Given the description of an element on the screen output the (x, y) to click on. 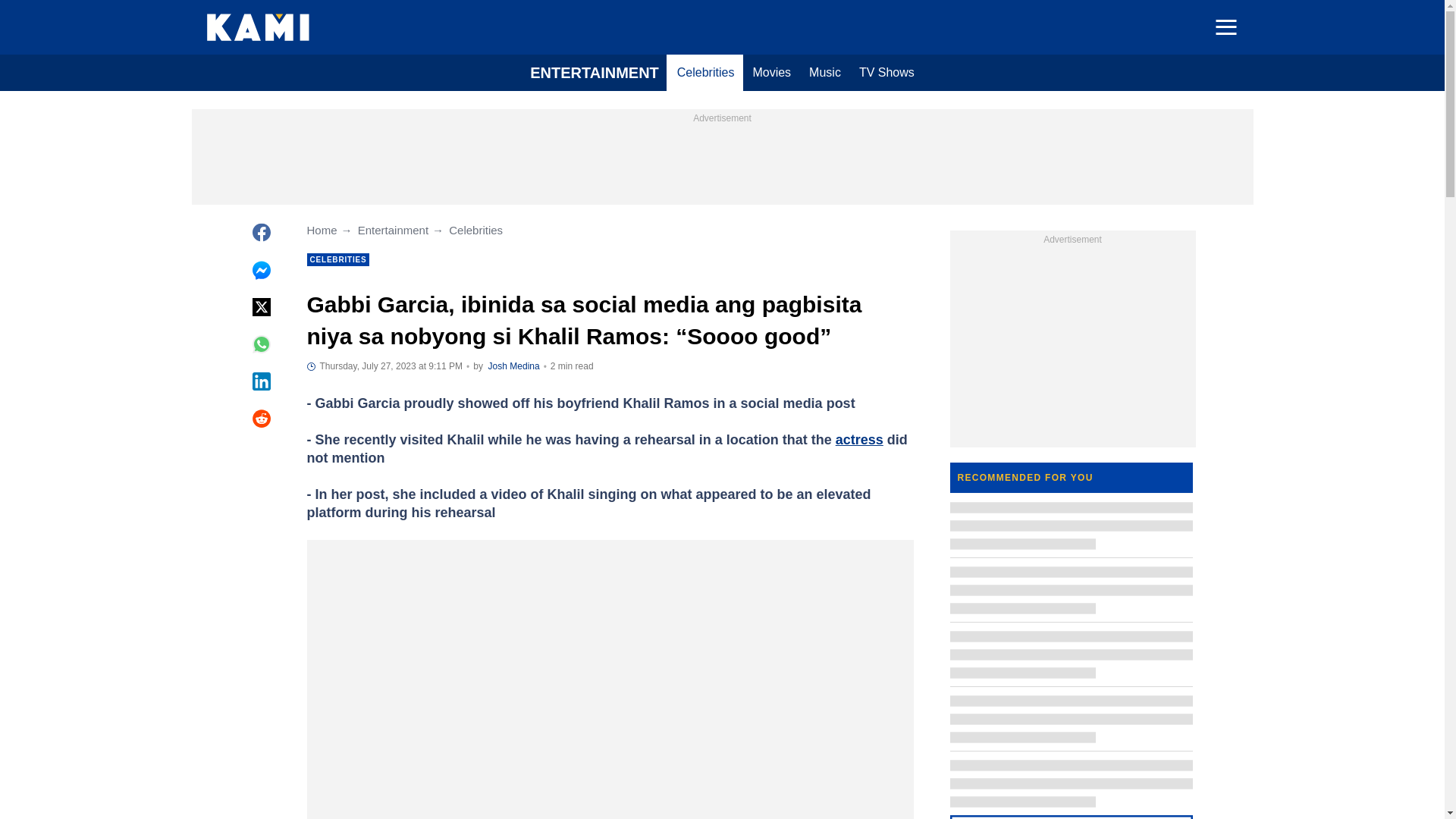
Celebrities (706, 72)
Author page (513, 366)
Music (824, 72)
TV Shows (886, 72)
Movies (770, 72)
ENTERTAINMENT (594, 72)
